Given the description of an element on the screen output the (x, y) to click on. 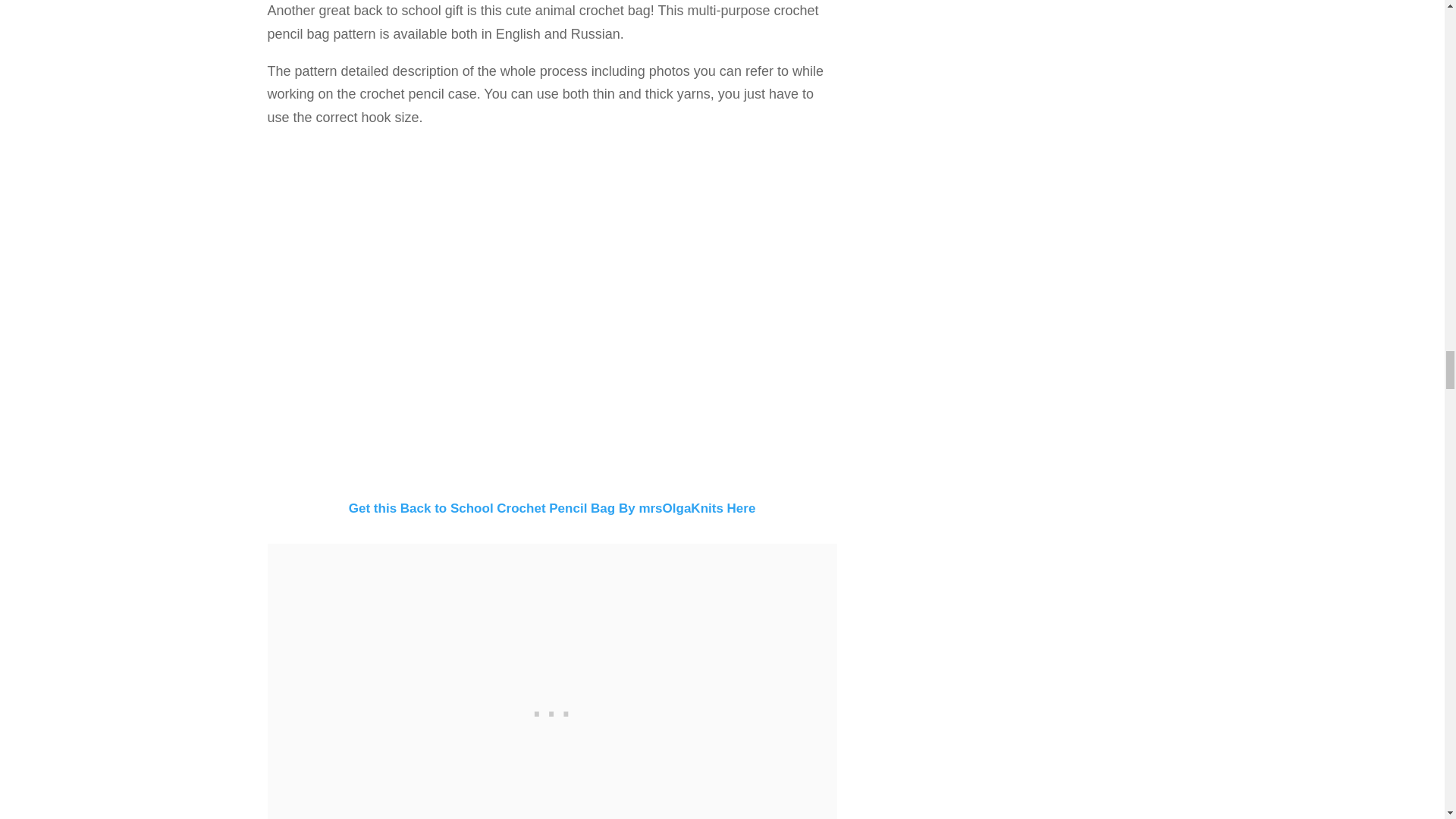
21 Fun Back to School Crochet Pencil Case Patterns (551, 313)
